Given the description of an element on the screen output the (x, y) to click on. 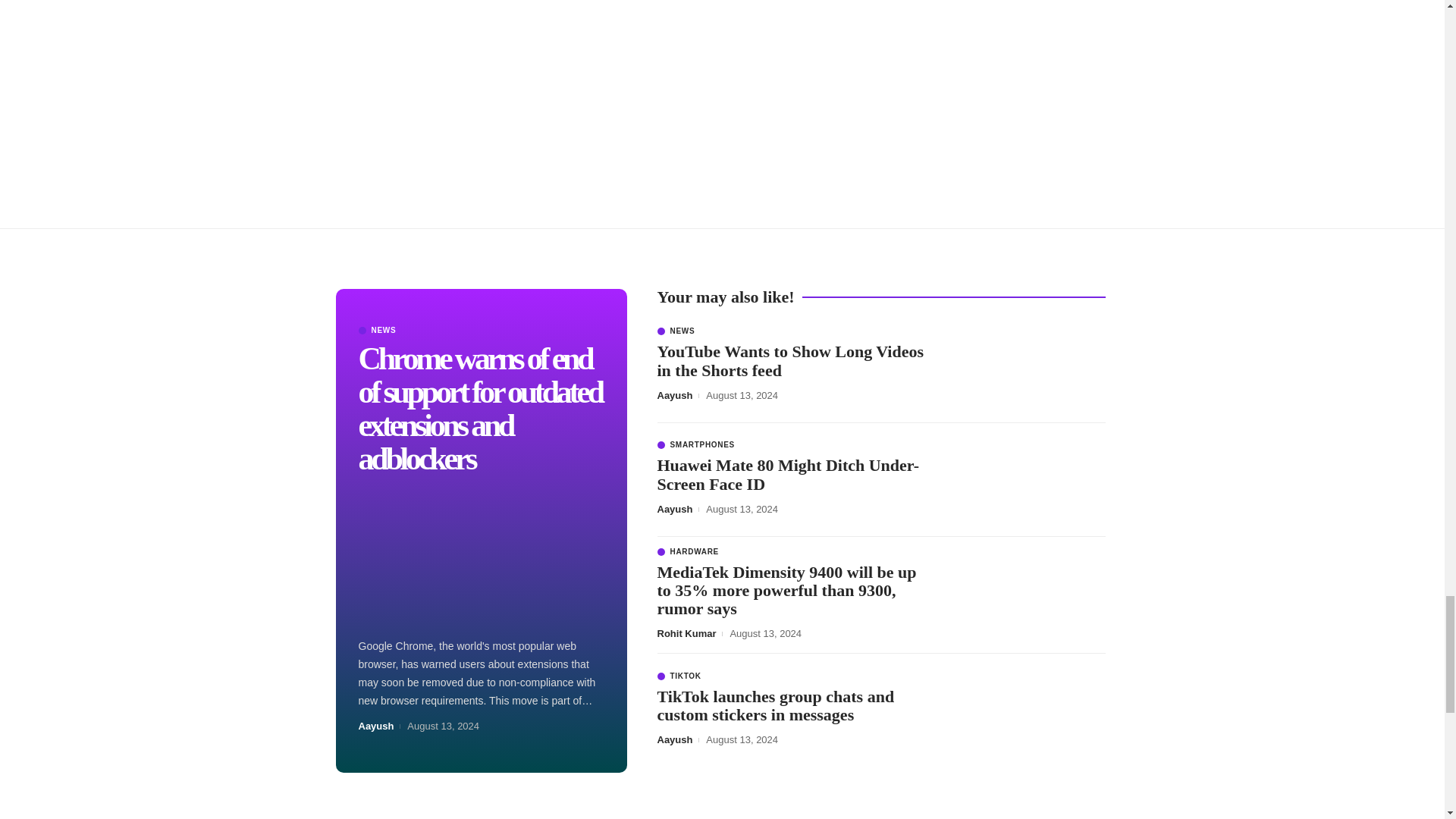
Huawei Mate 80 Might Ditch Under-Screen Face ID (1029, 479)
YouTube Wants to Show Long Videos in the Shorts feed (1029, 366)
